Given the description of an element on the screen output the (x, y) to click on. 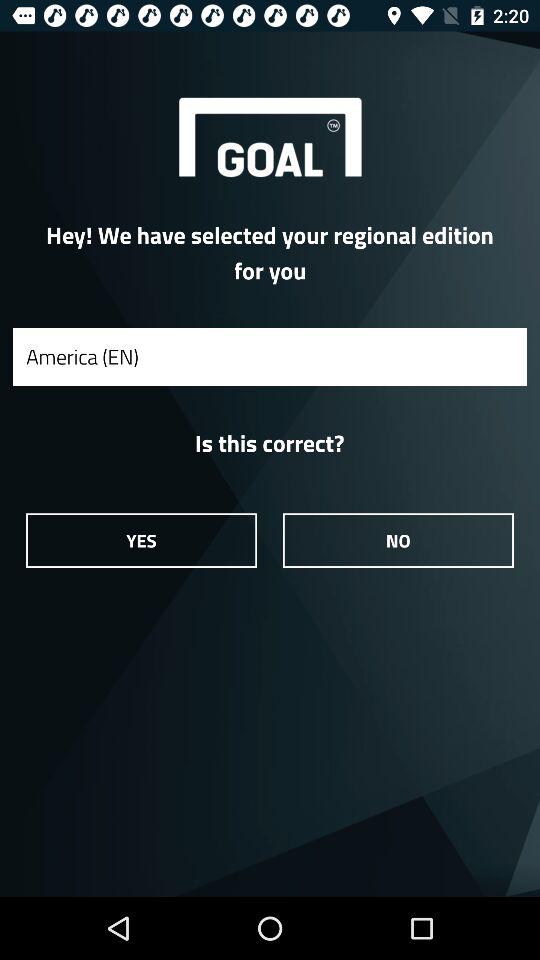
launch item below the is this correct? (141, 540)
